Given the description of an element on the screen output the (x, y) to click on. 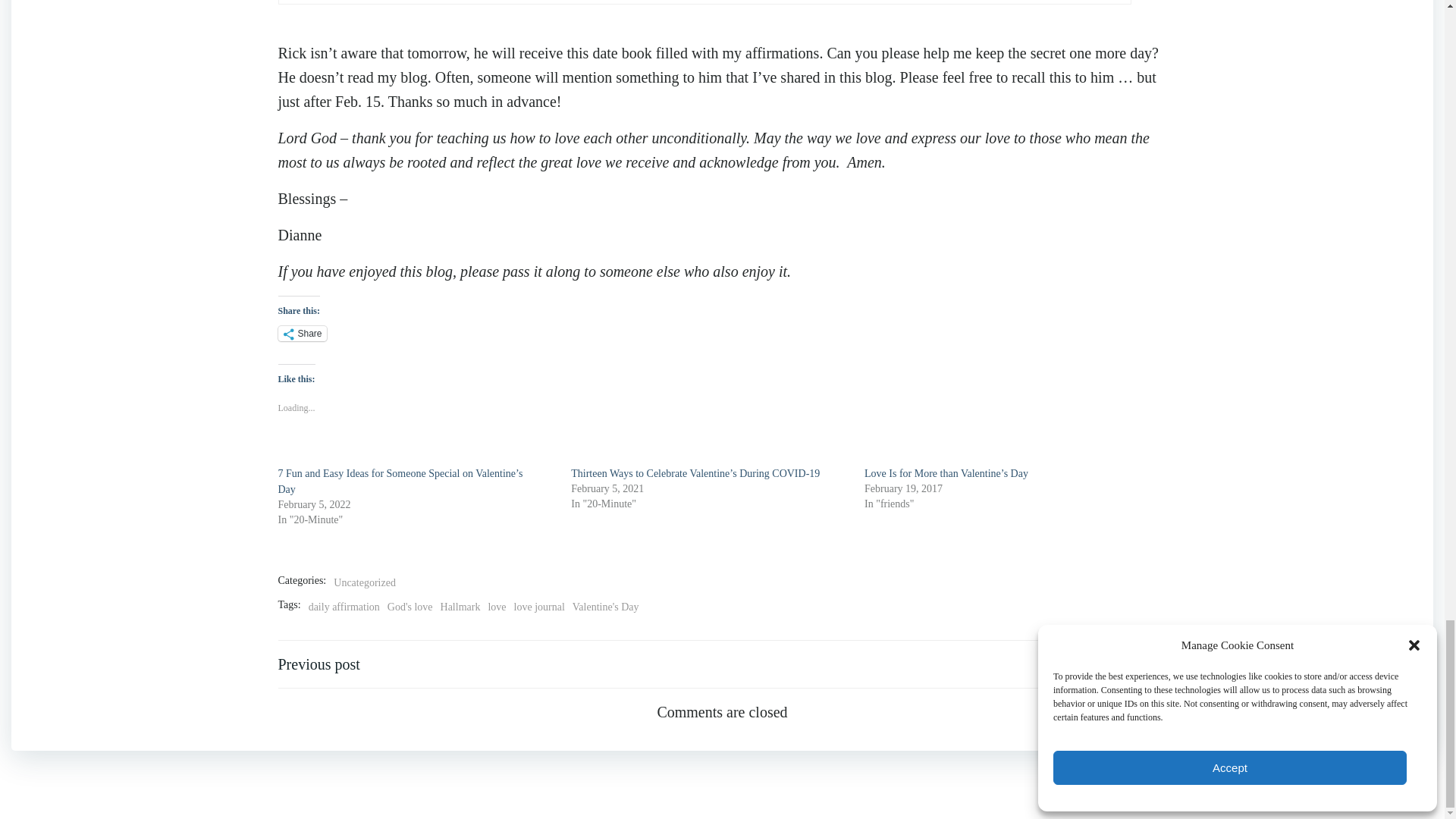
Hallmark Tag (460, 606)
love Tag (496, 606)
God's love Tag (409, 606)
love journal Tag (538, 606)
Valentine's Day Tag (605, 606)
Share (302, 333)
daily affirmation Tag (344, 606)
